Given the description of an element on the screen output the (x, y) to click on. 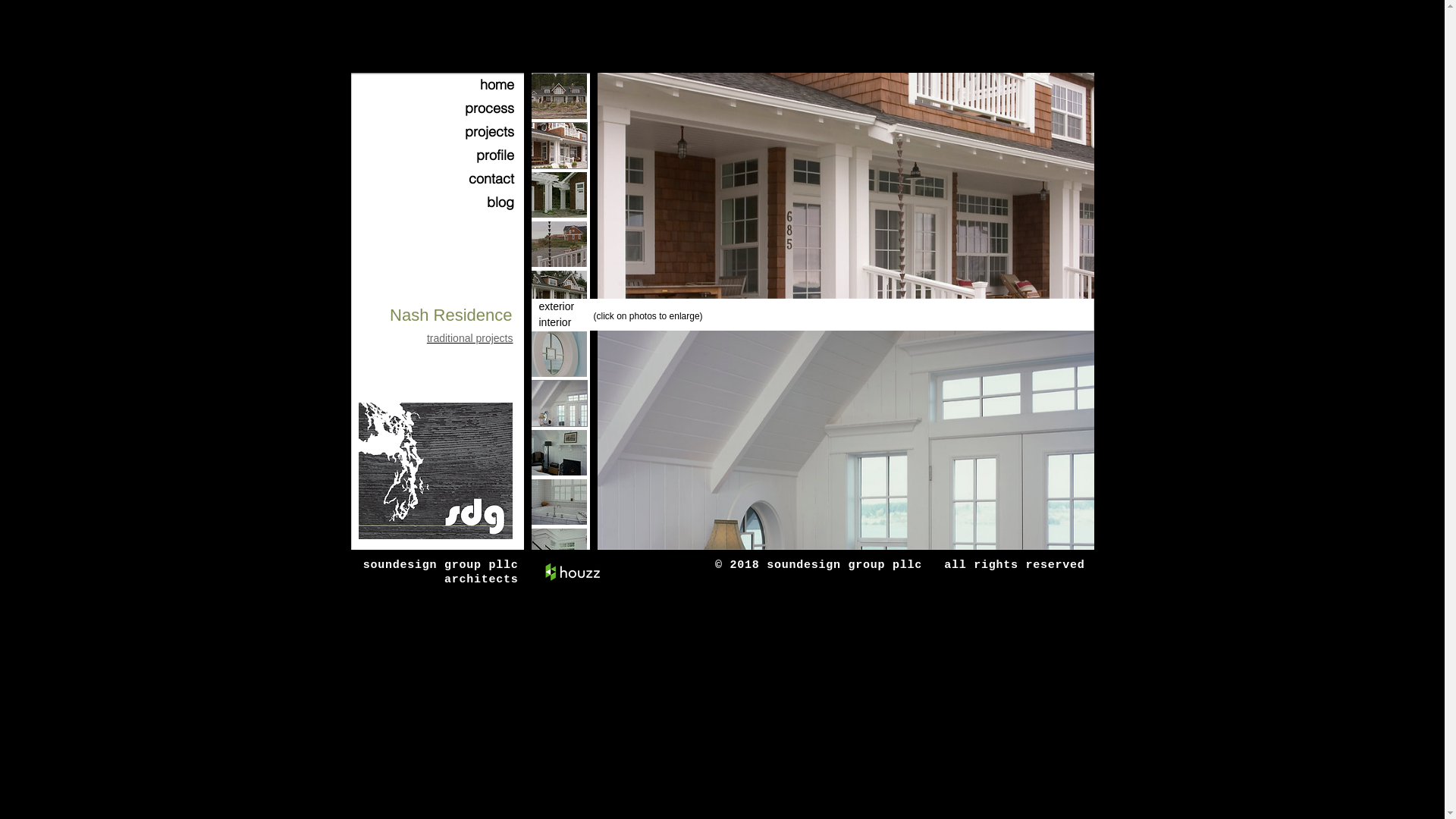
projects Element type: text (471, 131)
houzz-logo for Black BG.png Element type: hover (571, 572)
website square logo.png Element type: hover (434, 470)
process Element type: text (471, 107)
blog Element type: text (471, 201)
traditional projects Element type: text (469, 338)
home Element type: text (471, 84)
profile Element type: text (471, 154)
contact Element type: text (471, 178)
